Given the description of an element on the screen output the (x, y) to click on. 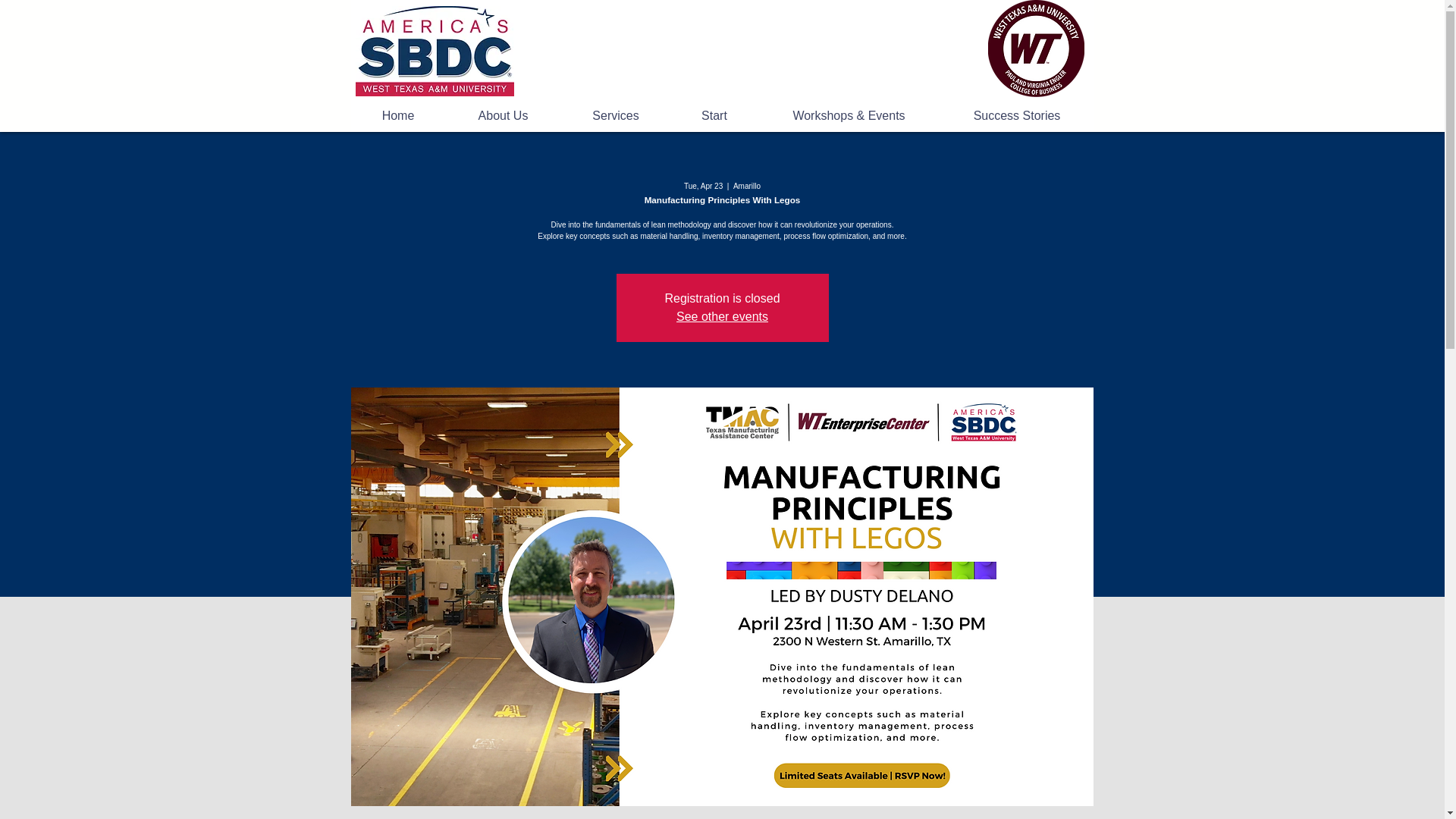
About Us (502, 116)
Home (397, 116)
See other events (722, 316)
Services (615, 116)
Home (434, 50)
Start (713, 116)
Success Stories (1017, 116)
